Given the description of an element on the screen output the (x, y) to click on. 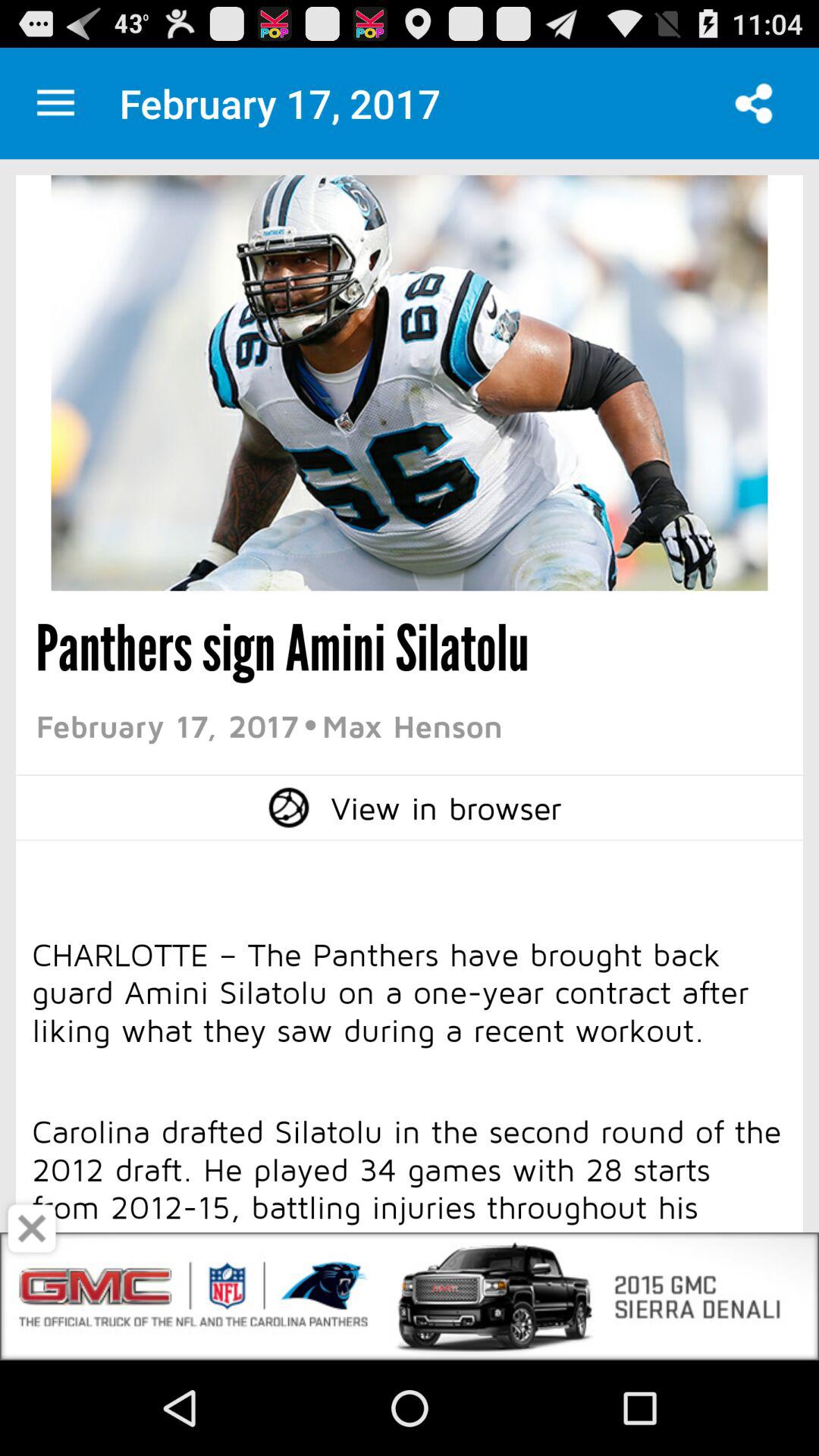
carolina panthers mobile (55, 103)
